Given the description of an element on the screen output the (x, y) to click on. 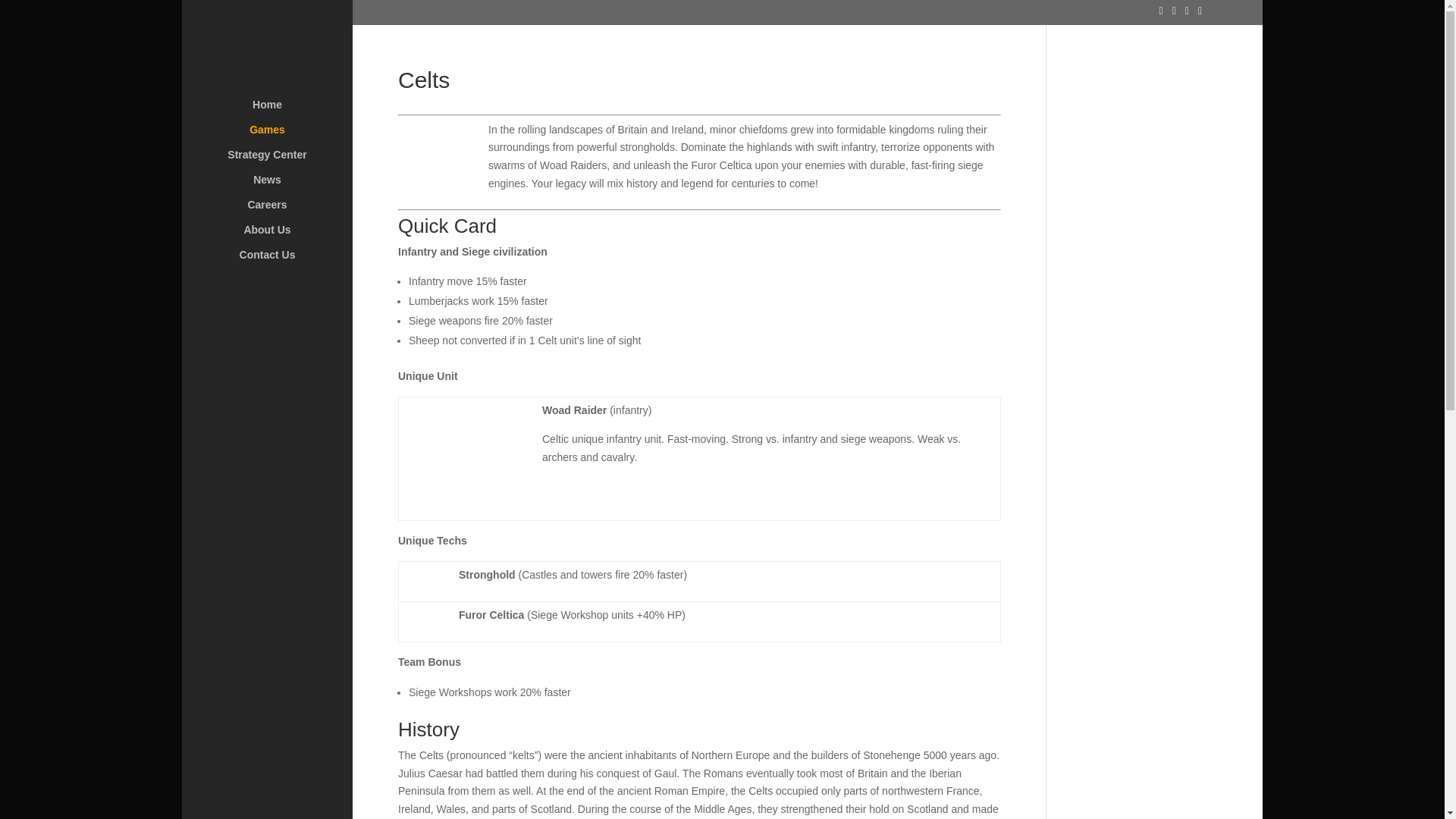
Games (282, 136)
Strategy Center (282, 161)
Contact Us (282, 261)
Careers (282, 211)
Home (282, 111)
News (282, 186)
About Us (282, 236)
